Given the description of an element on the screen output the (x, y) to click on. 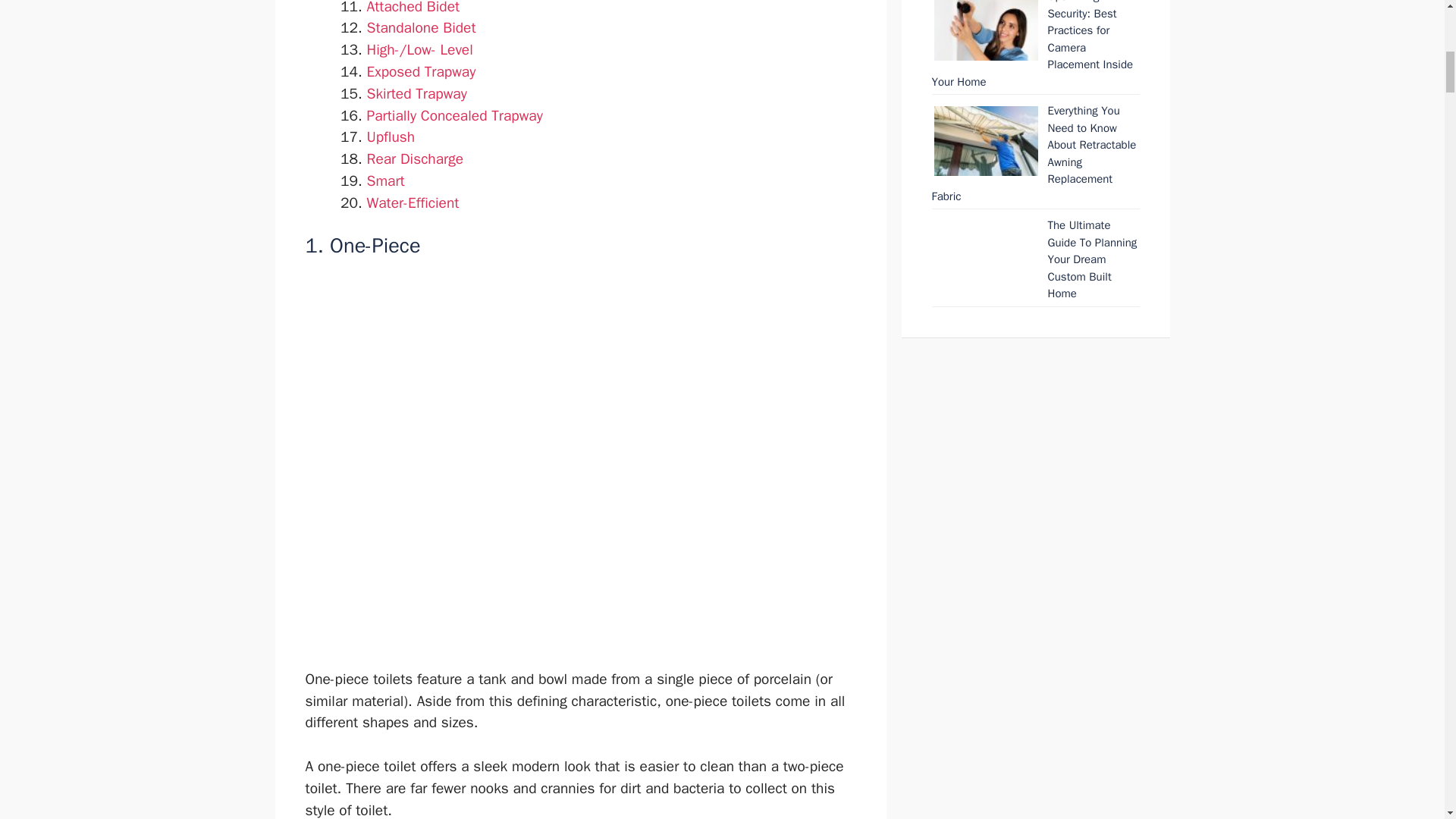
Rear Discharge (415, 158)
Smart (385, 180)
Water-Efficient (413, 203)
Partially Concealed Trapway (454, 116)
Exposed Trapway (421, 72)
Upflush (390, 136)
Attached Bidet (413, 7)
Standalone Bidet (421, 27)
Skirted Trapway (416, 94)
